Given the description of an element on the screen output the (x, y) to click on. 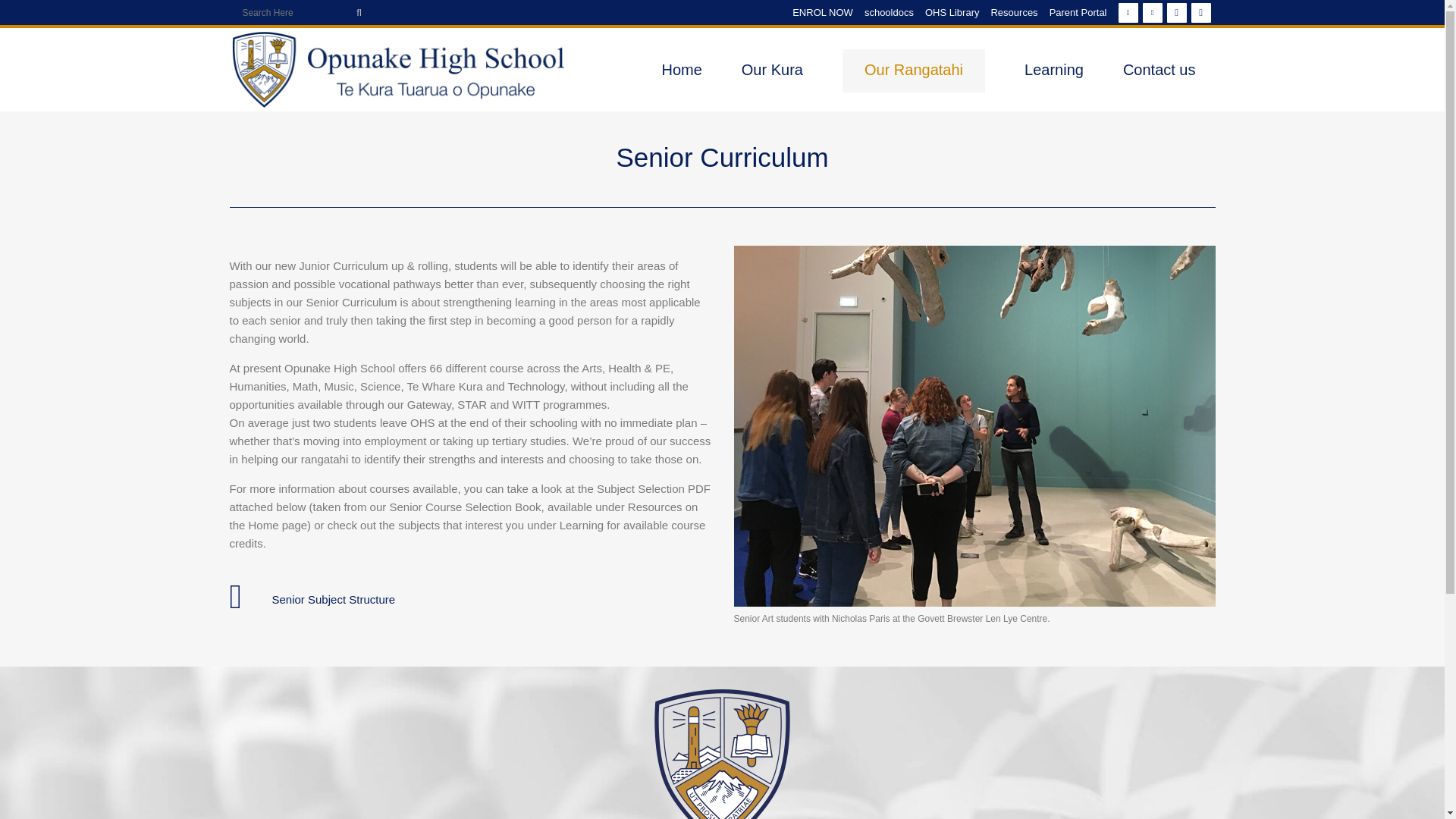
Resources (1007, 12)
Parent Portal (1072, 12)
OHS Library (946, 12)
Our Rangatahi (913, 69)
schooldocs (883, 12)
ENROL NOW (816, 12)
Our Kura (772, 69)
Learning (1053, 69)
Home (681, 69)
